Given the description of an element on the screen output the (x, y) to click on. 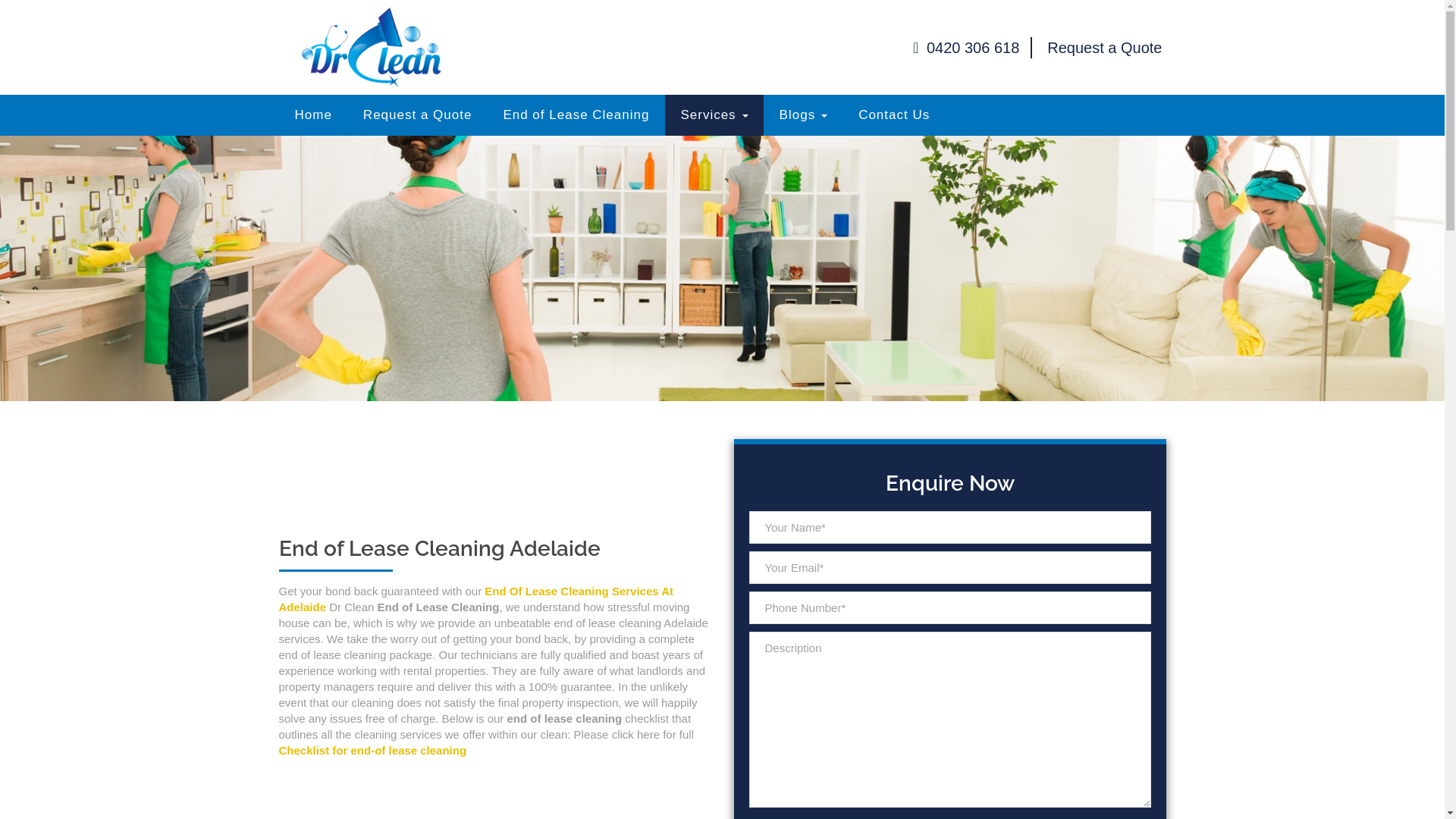
Services Element type: text (713, 114)
Blogs Element type: text (803, 114)
Checklist for end-of lease cleaning Element type: text (373, 749)
Request a Quote Element type: text (1104, 47)
Request a Quote Element type: text (417, 114)
END OF LEASE CLEANING ADELAIDE Element type: text (371, 47)
0420 306 618 Element type: text (966, 47)
End Of Lease Cleaning Services At Adelaide Element type: text (476, 598)
Home Element type: text (312, 114)
End of Lease Cleaning Element type: text (575, 114)
Contact Us Element type: text (893, 114)
